Given the description of an element on the screen output the (x, y) to click on. 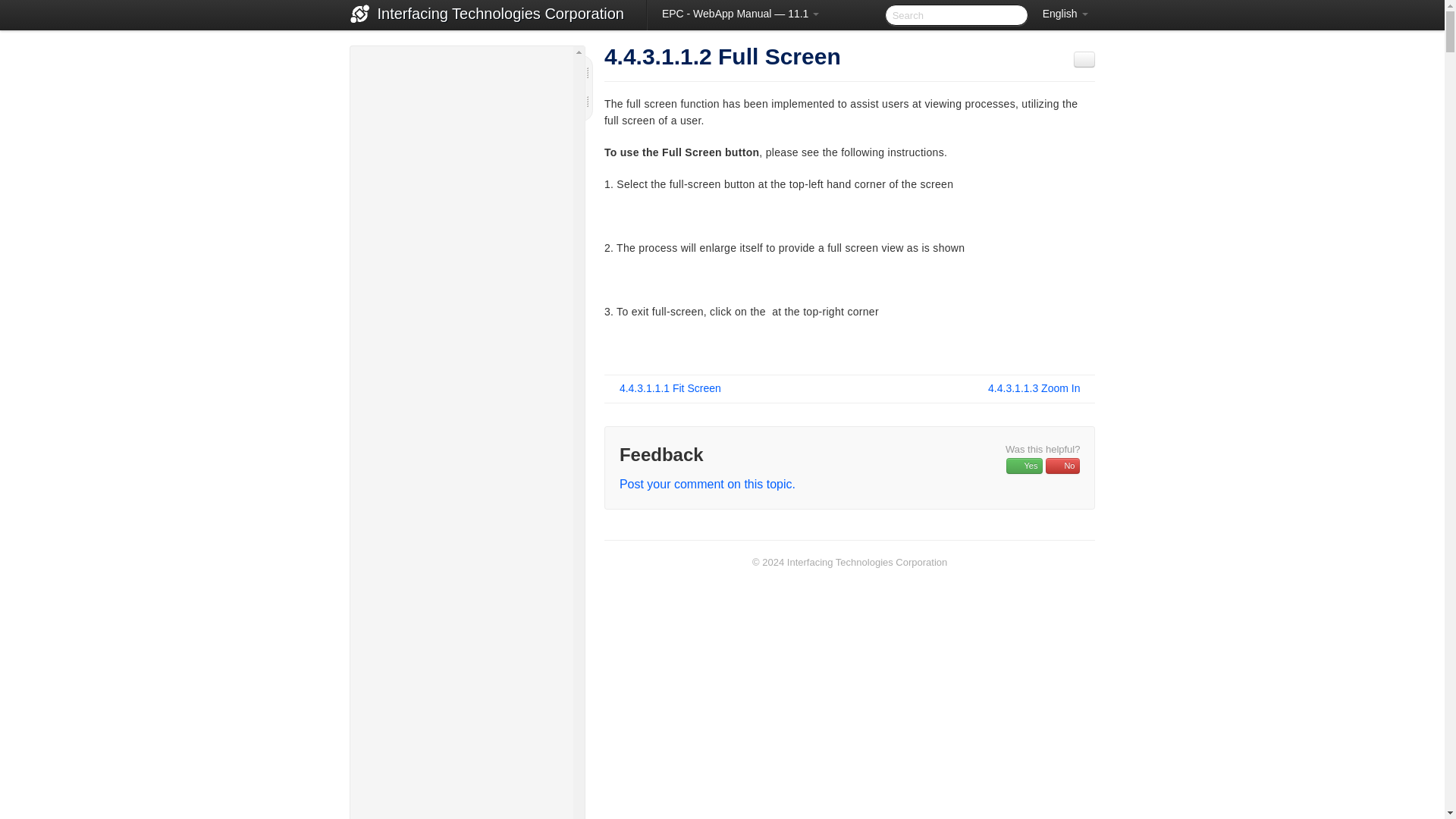
1.0 Enterprise Process Center (460, 185)
FAQs (460, 149)
Technical Support (460, 80)
Interfacing Technologies Corporation (500, 15)
Disclaimer (460, 115)
English (1065, 14)
1.2 Collaborative Environment (467, 221)
Print page (1084, 59)
1.1 Process Viewing (467, 203)
